Given the description of an element on the screen output the (x, y) to click on. 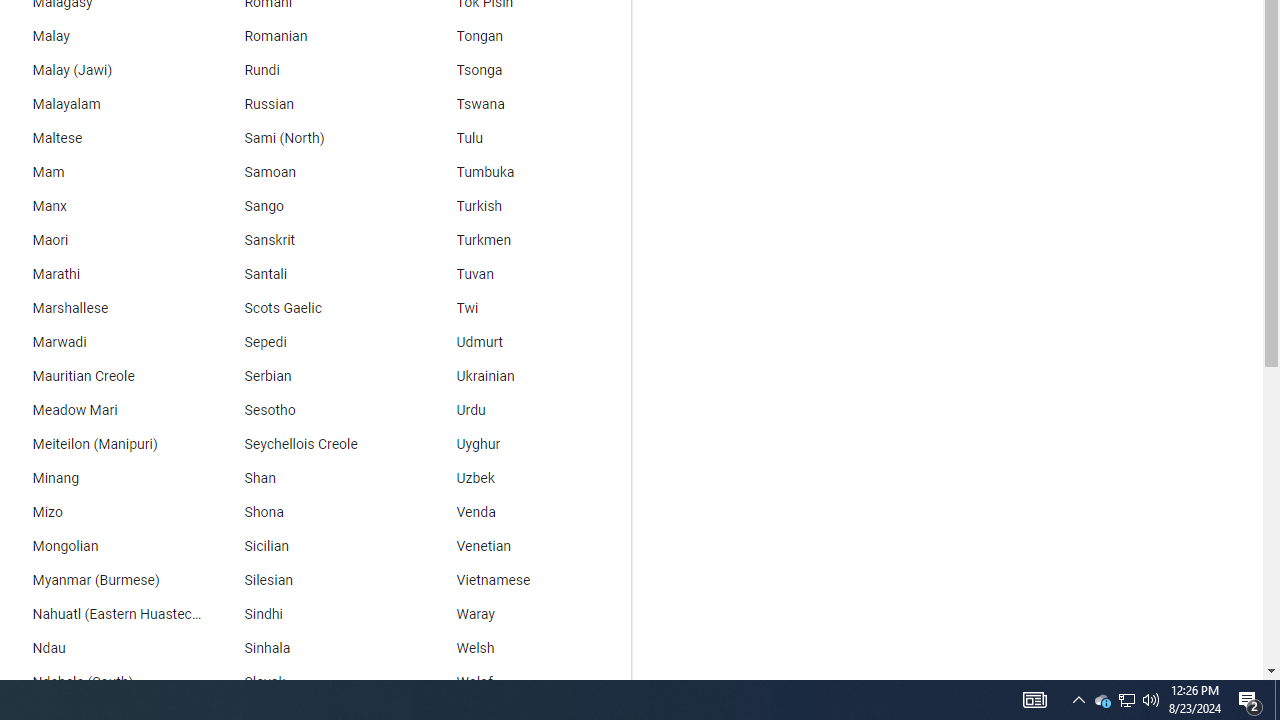
Sesotho (312, 410)
Urdu (525, 410)
Santali (312, 274)
Venetian (525, 547)
Silesian (312, 580)
Udmurt (525, 342)
Rundi (312, 70)
Tulu (525, 138)
Sepedi (312, 342)
Tswana (525, 104)
